Given the description of an element on the screen output the (x, y) to click on. 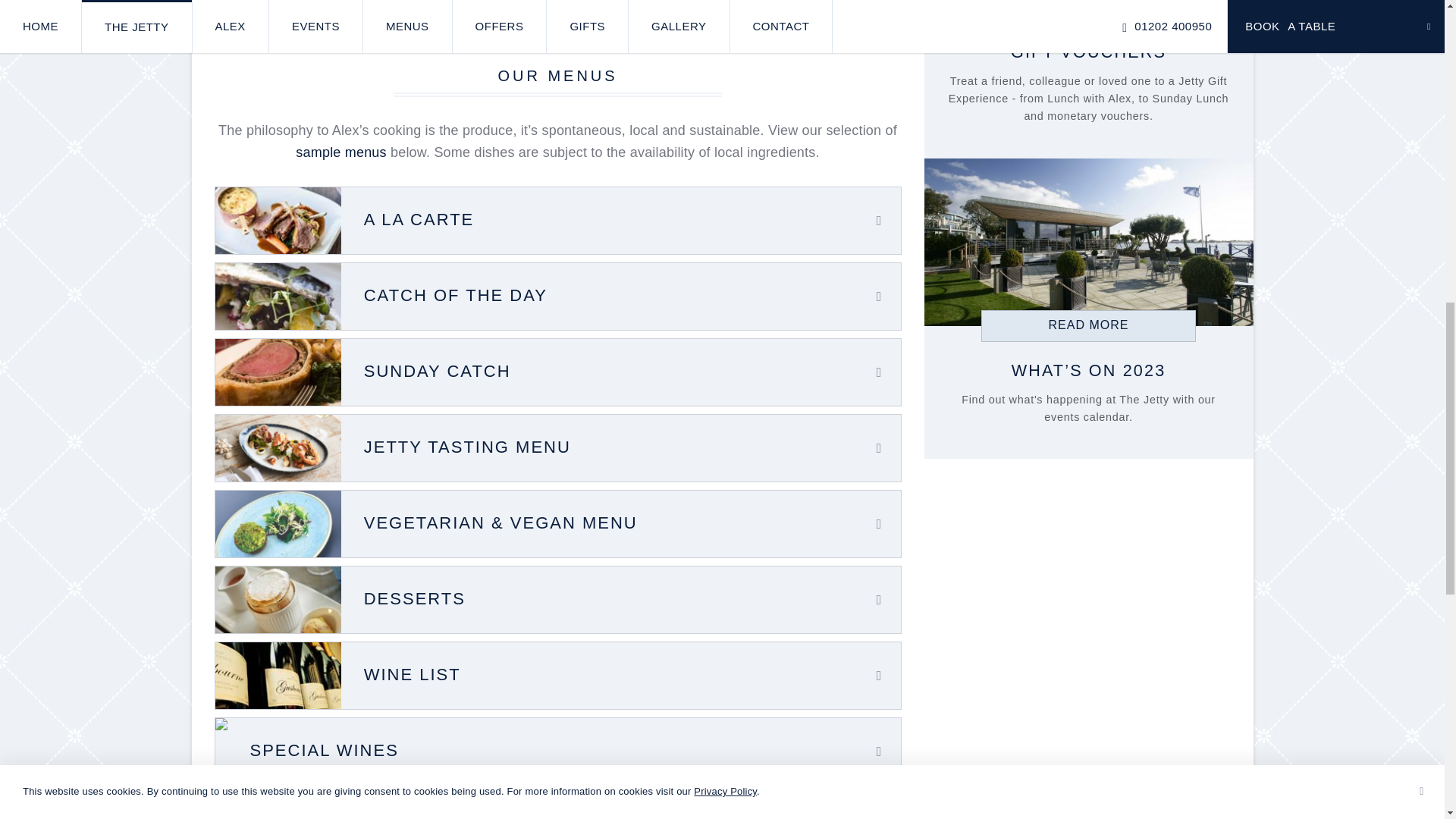
Menus (340, 151)
sample menus (340, 151)
